Given the description of an element on the screen output the (x, y) to click on. 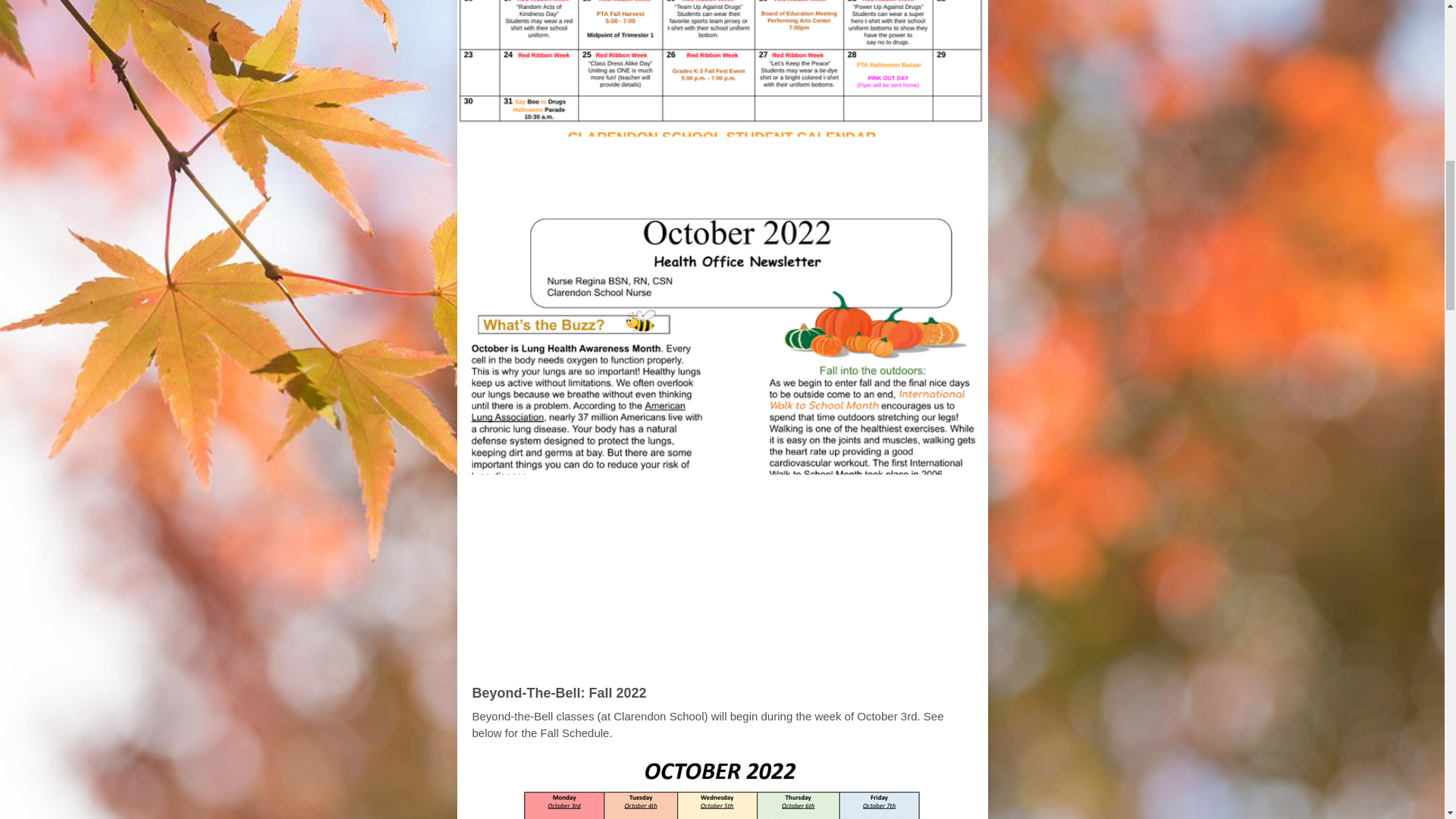
Health (639, 187)
Newsletter (788, 187)
Office (706, 187)
EVENTS (781, 656)
UPCOMING (688, 656)
